Given the description of an element on the screen output the (x, y) to click on. 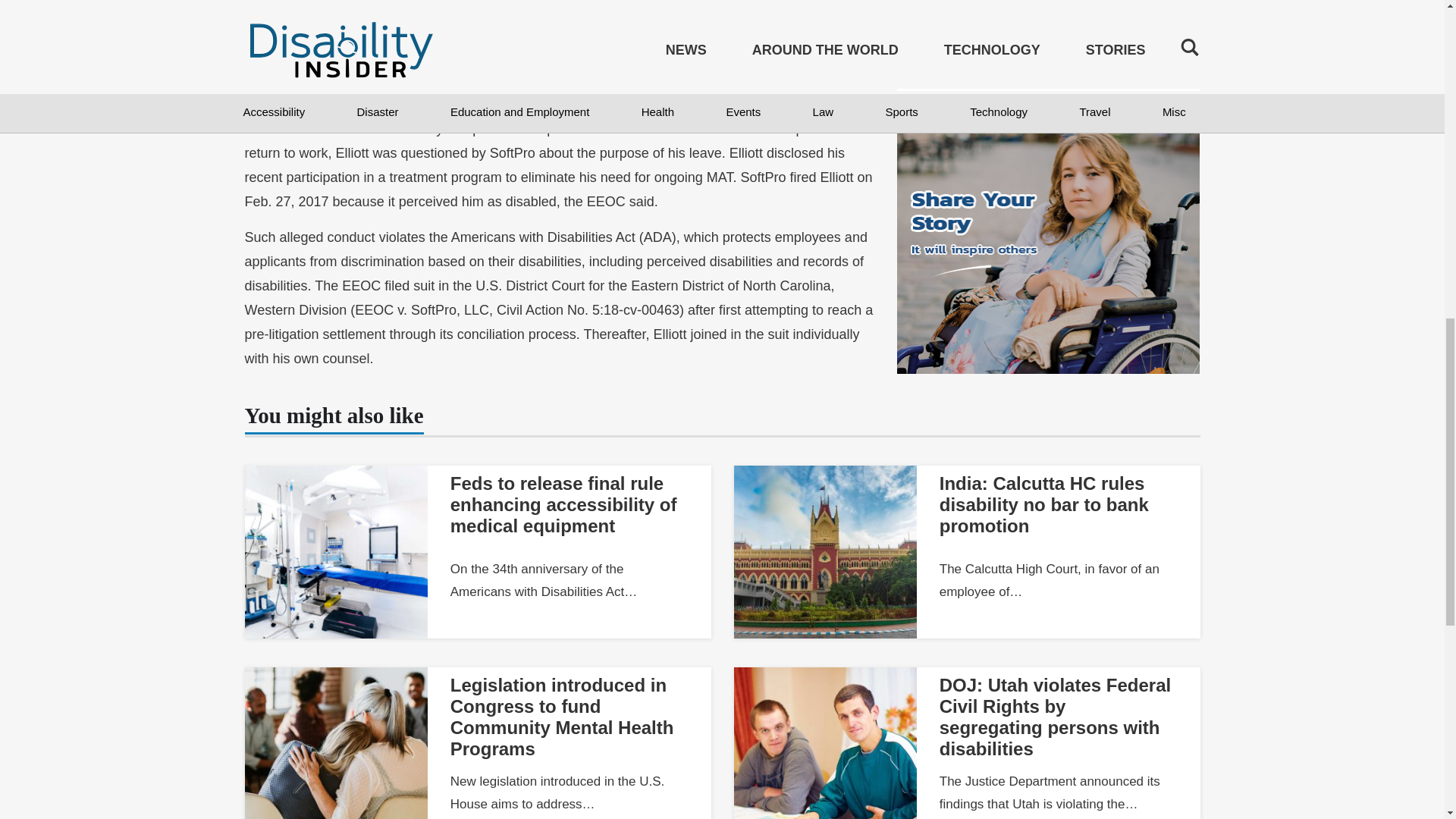
Applications now open to join Disability Council NSW (1048, 37)
India: Calcutta HC rules disability no bar to bank promotion (1043, 504)
